Given the description of an element on the screen output the (x, y) to click on. 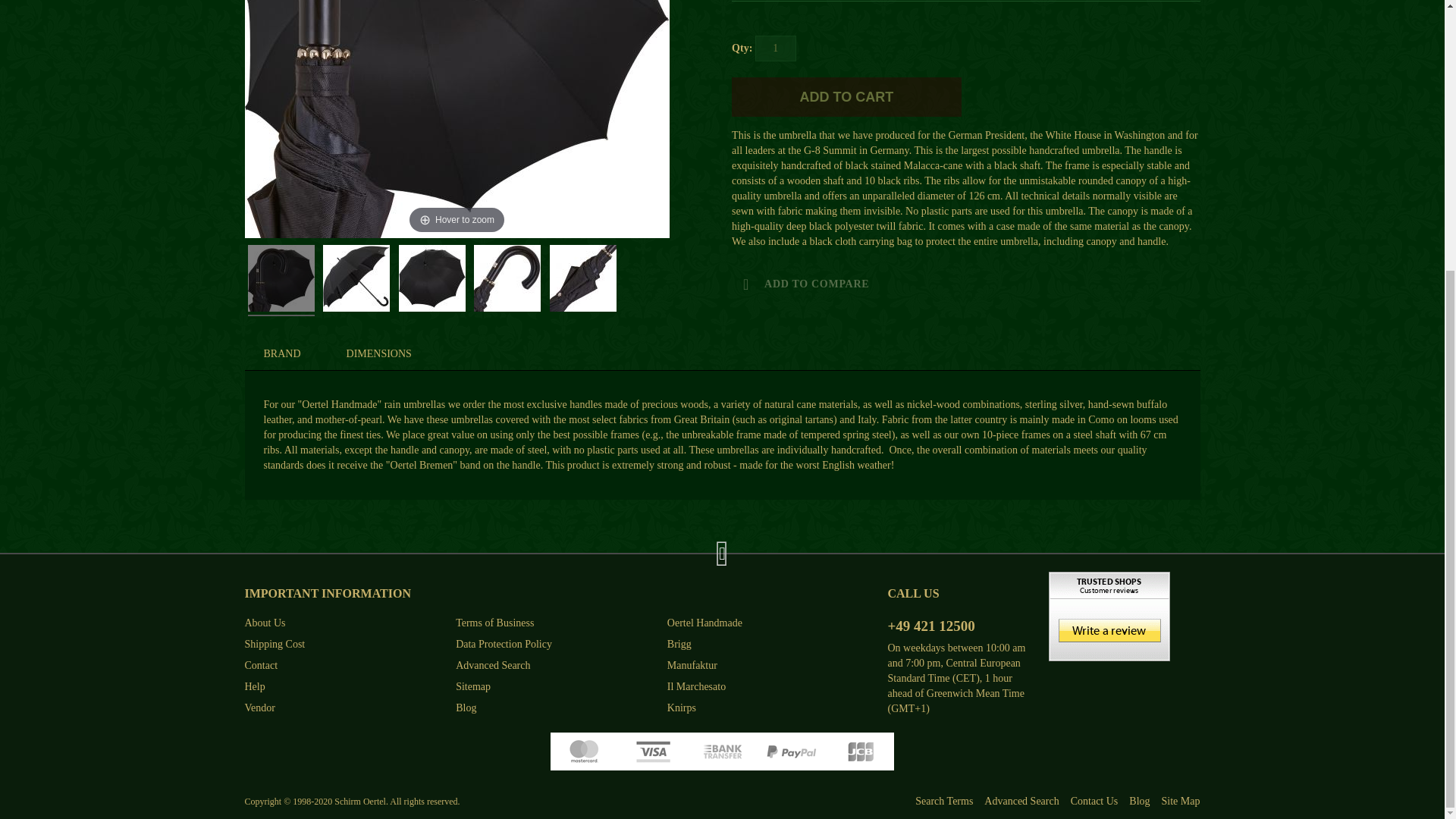
Oertel Handmade umbrella - Doorman - black (581, 280)
Add to Cart (846, 96)
Oertel Handmade umbrella - Doorman - black (507, 280)
Oertel Handmade umbrella - Doorman - black (431, 280)
Oertel Handmade umbrella - Doorman - black (356, 280)
Qty (775, 48)
Credit cards, we accept (721, 751)
1 (775, 48)
